Given the description of an element on the screen output the (x, y) to click on. 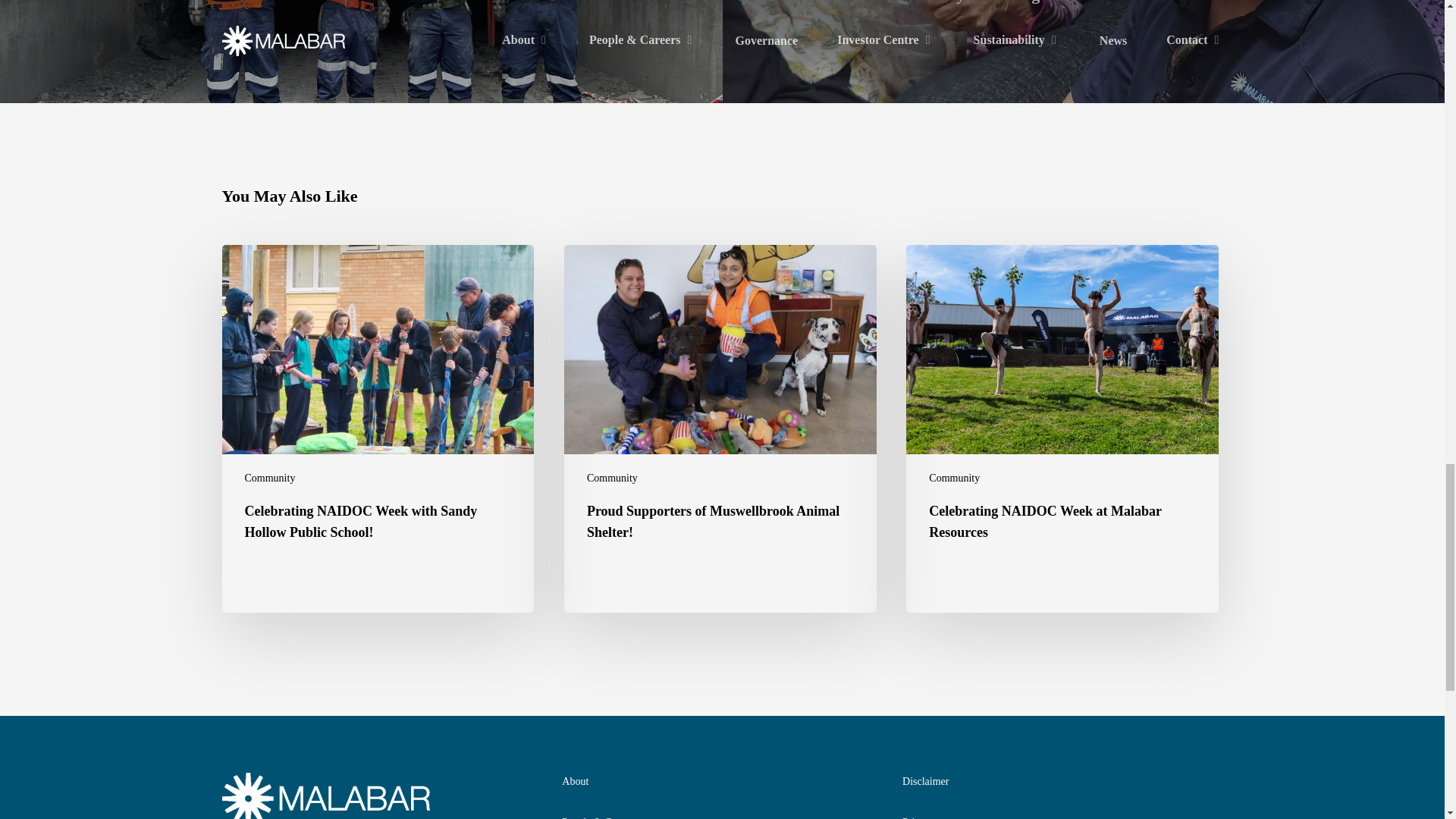
Community (269, 477)
Community (611, 477)
